Given the description of an element on the screen output the (x, y) to click on. 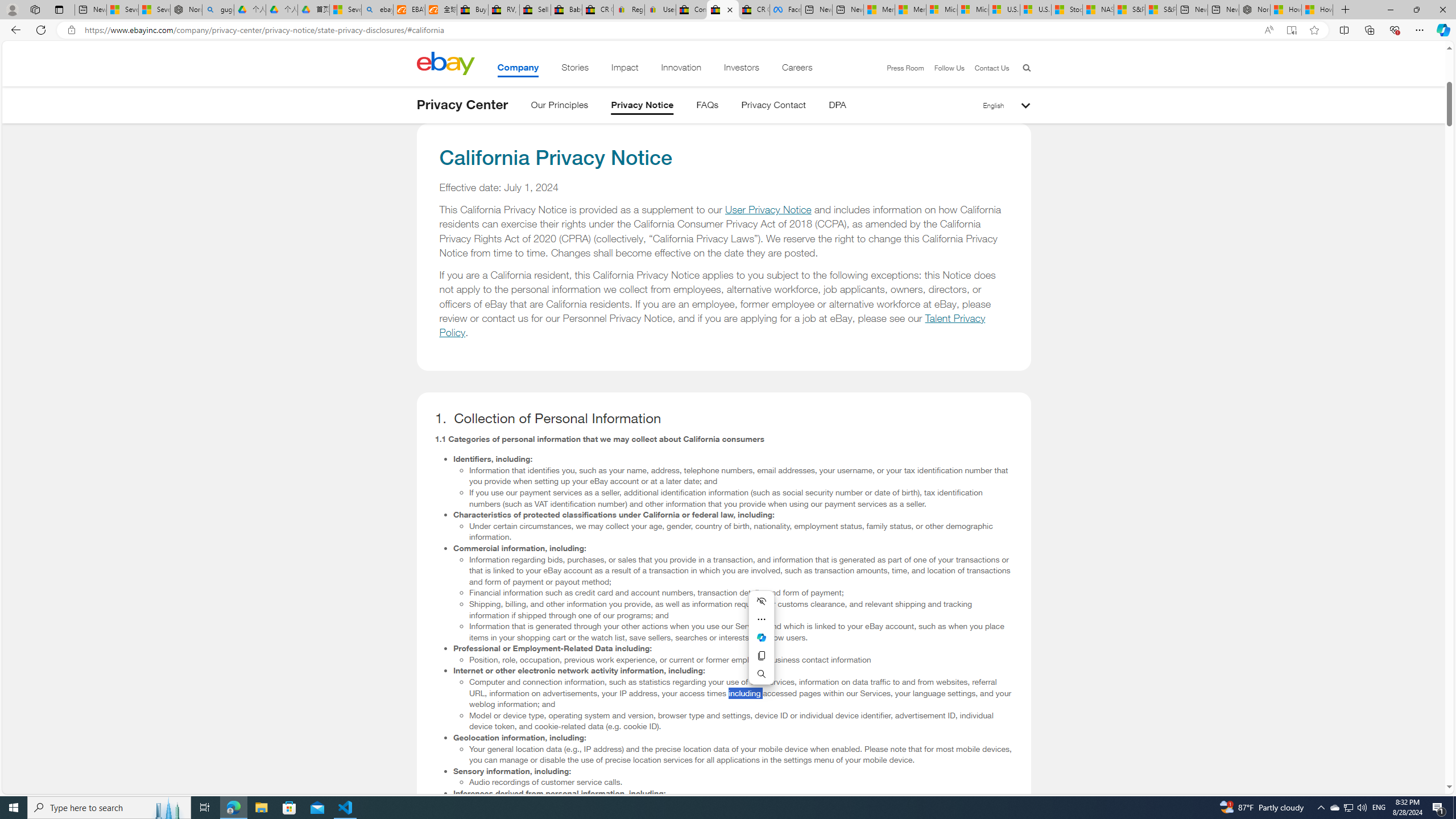
Our Principles (558, 107)
Buy Auto Parts & Accessories | eBay (472, 9)
Talent Privacy Policy (712, 325)
DPA (836, 107)
Privacy Contact (773, 107)
